Given the description of an element on the screen output the (x, y) to click on. 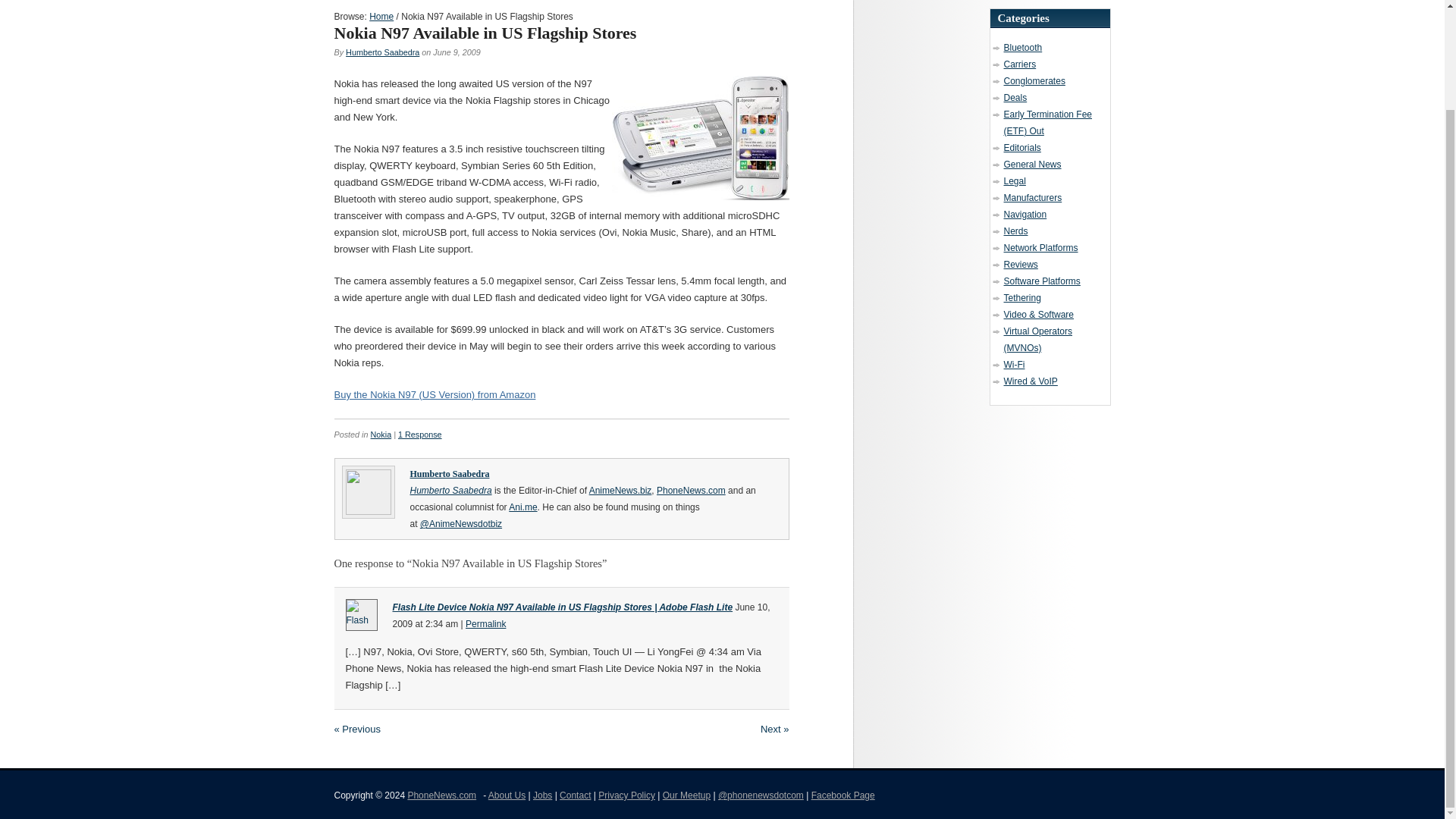
Conglomerates (1034, 81)
Home (381, 16)
Humberto Saabedra (450, 490)
Bluetooth (1023, 47)
Nokia (381, 433)
PhoneNews.com (441, 795)
Comment on Nokia N97 Available in US Flagship Stores (419, 433)
Wednesday, June 10th, 2009, 2:34 am (441, 624)
PhoneNews.com (690, 490)
Wednesday, June 10th, 2009, 2:34 am (581, 615)
